Given the description of an element on the screen output the (x, y) to click on. 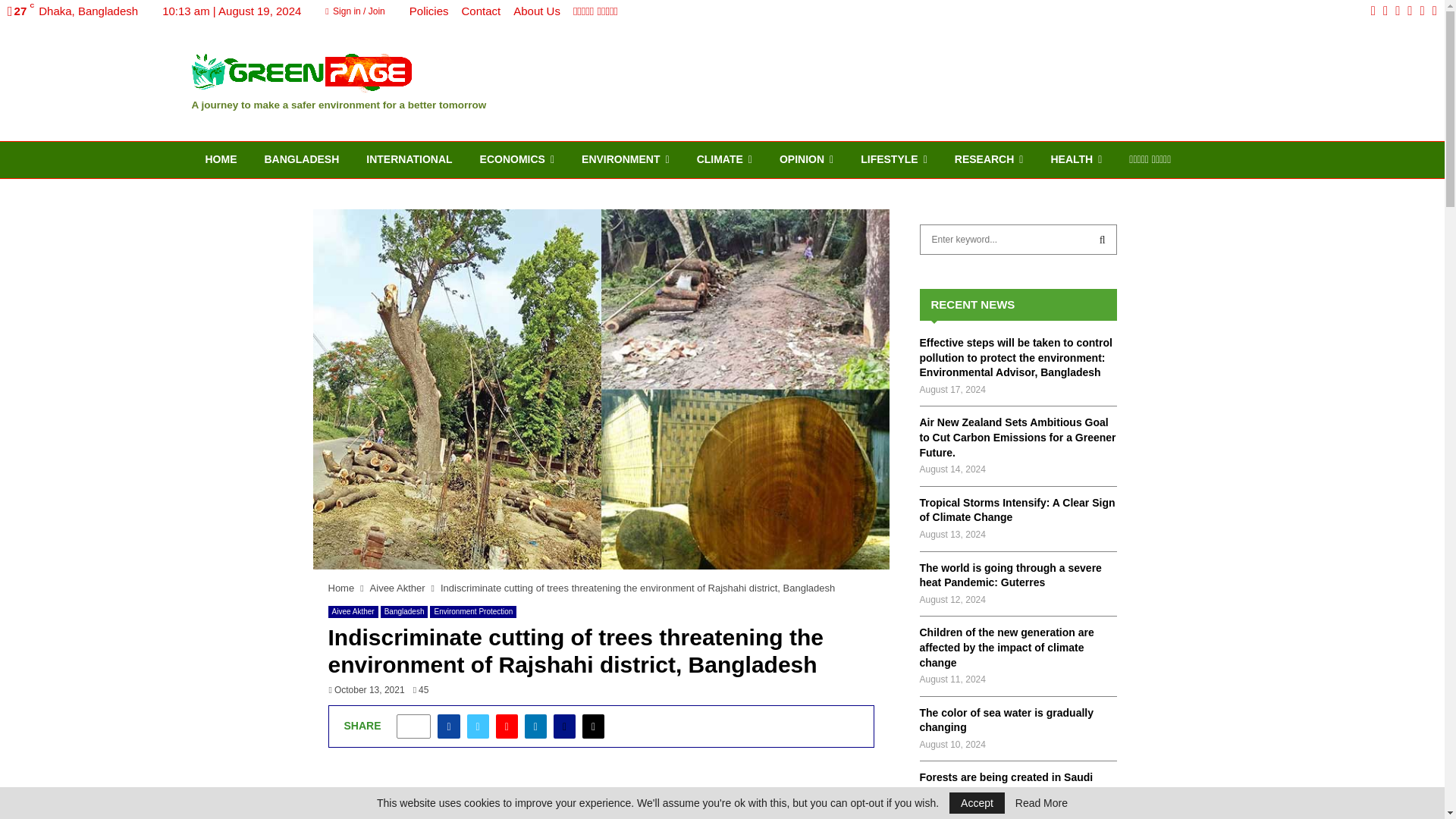
CLIMATE (723, 159)
OPINION (806, 159)
About Us (536, 11)
Contact (480, 11)
INTERNATIONAL (408, 159)
BANGLADESH (301, 159)
Advertisement (600, 799)
Advertisement (976, 79)
Sign up new account (722, 528)
Login to your account (722, 293)
